Given the description of an element on the screen output the (x, y) to click on. 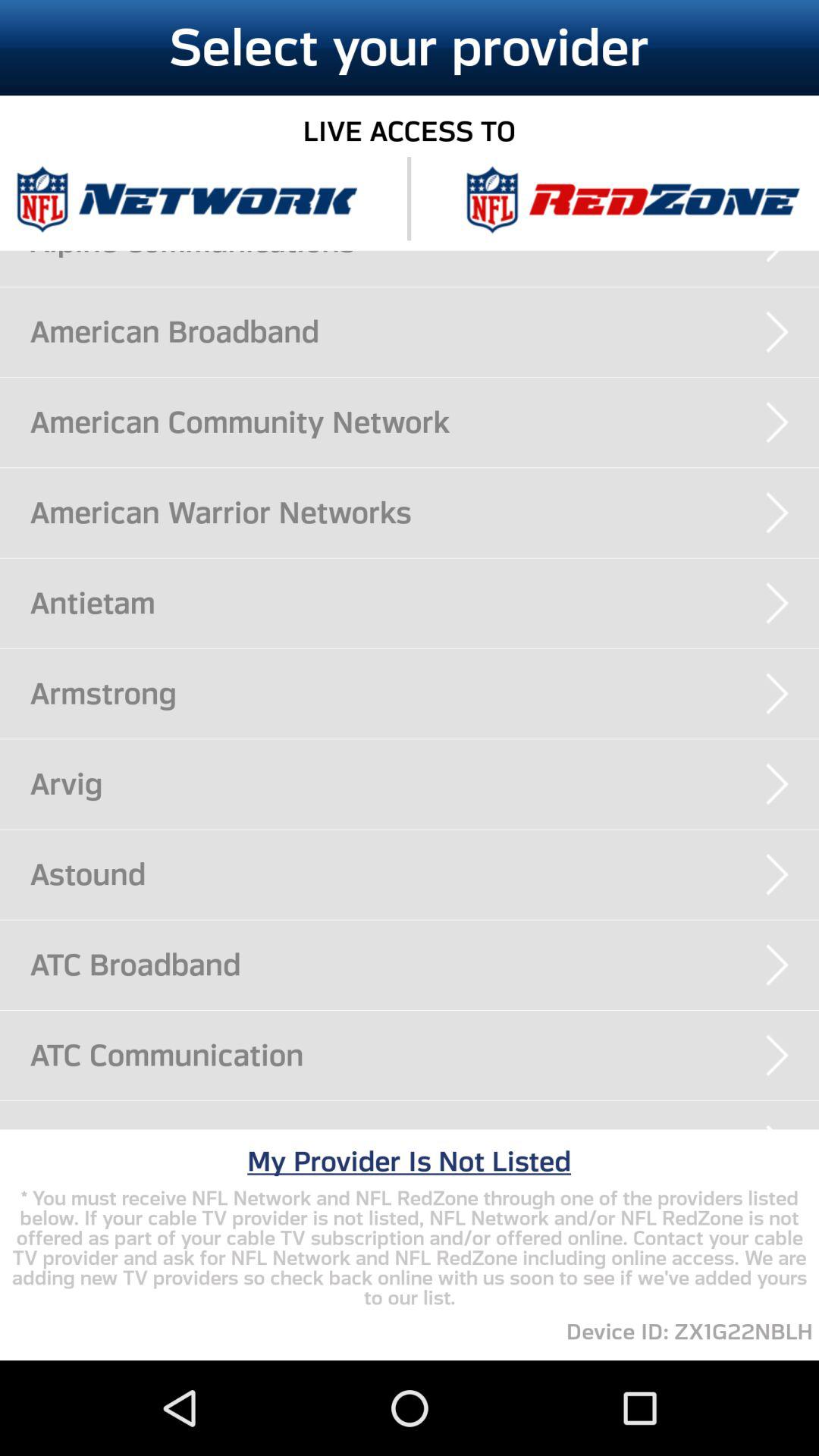
jump to the american community network app (424, 422)
